Given the description of an element on the screen output the (x, y) to click on. 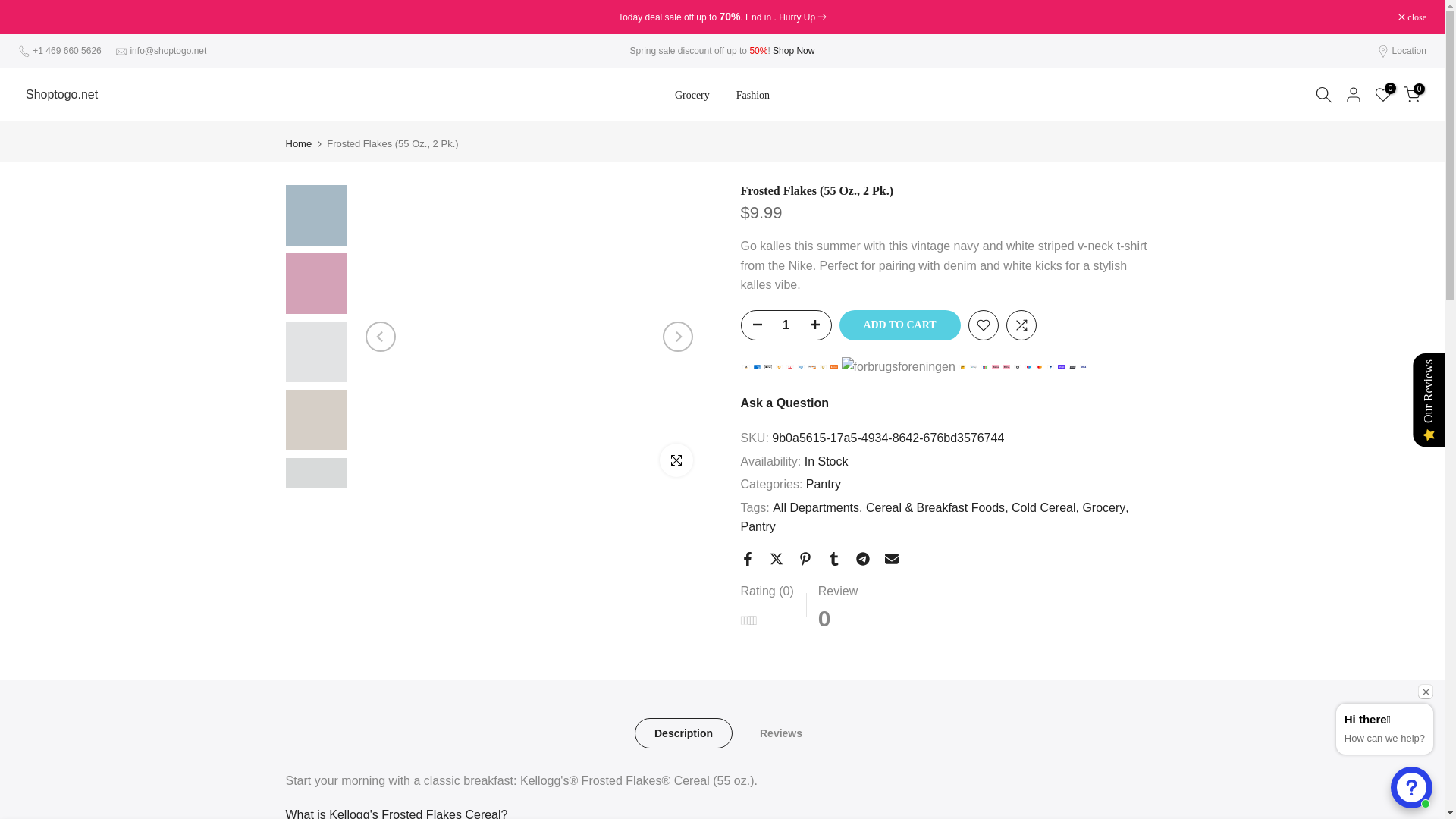
0 (1412, 94)
Shop Now (793, 50)
1 (786, 325)
Fashion (752, 95)
Share on Facebook (746, 558)
Home (298, 143)
Share on Pinterest (803, 558)
Share on Tumblr (833, 558)
0 (1382, 94)
Share on Twitter (775, 558)
Share on Telegram (862, 558)
Shoptogo.net (61, 94)
All collections (793, 50)
Share on Email (890, 558)
Grocery (691, 95)
